Given the description of an element on the screen output the (x, y) to click on. 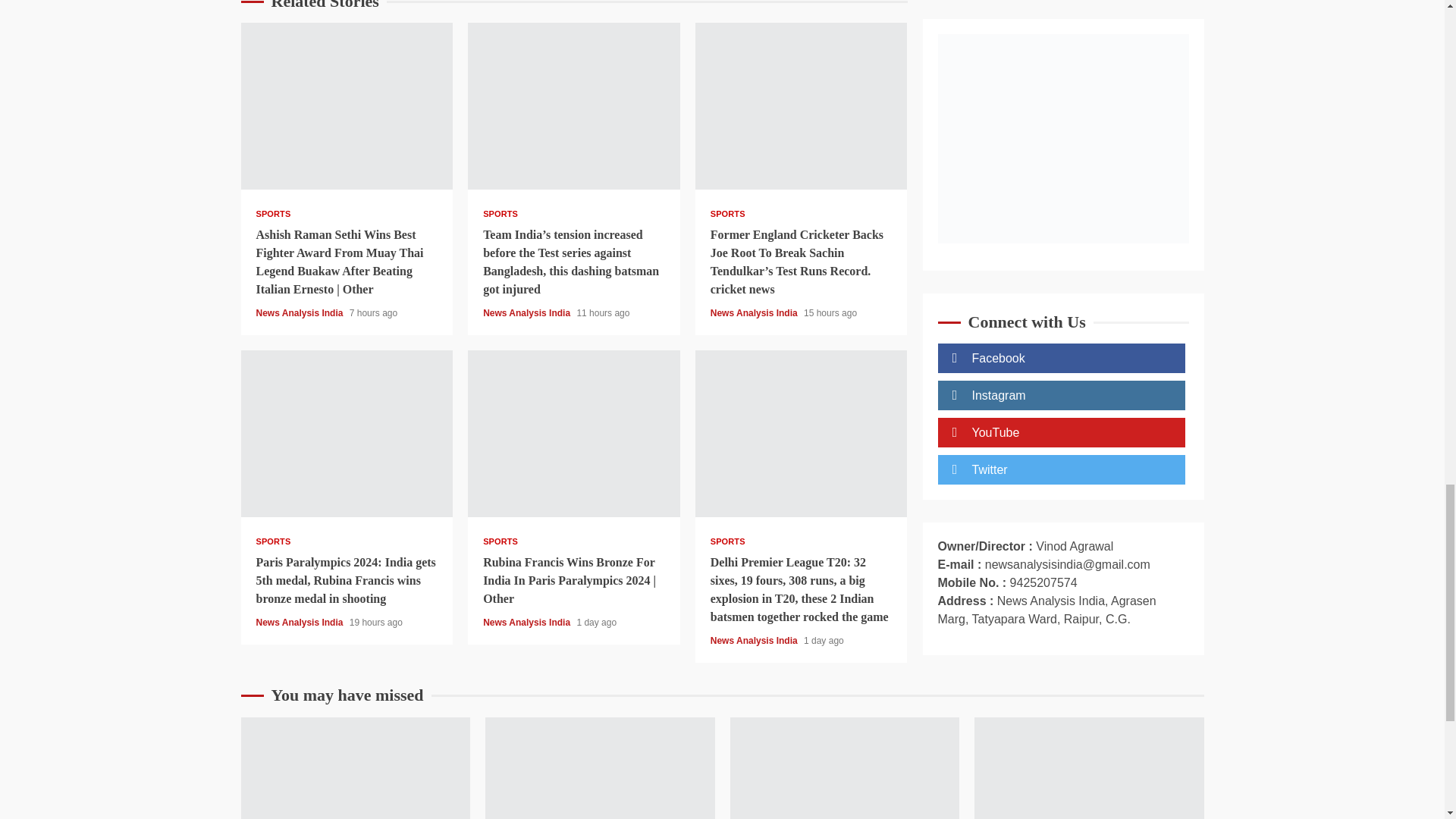
News Analysis India (527, 312)
SPORTS (273, 213)
SPORTS (727, 213)
News Analysis India (301, 312)
SPORTS (500, 213)
